Given the description of an element on the screen output the (x, y) to click on. 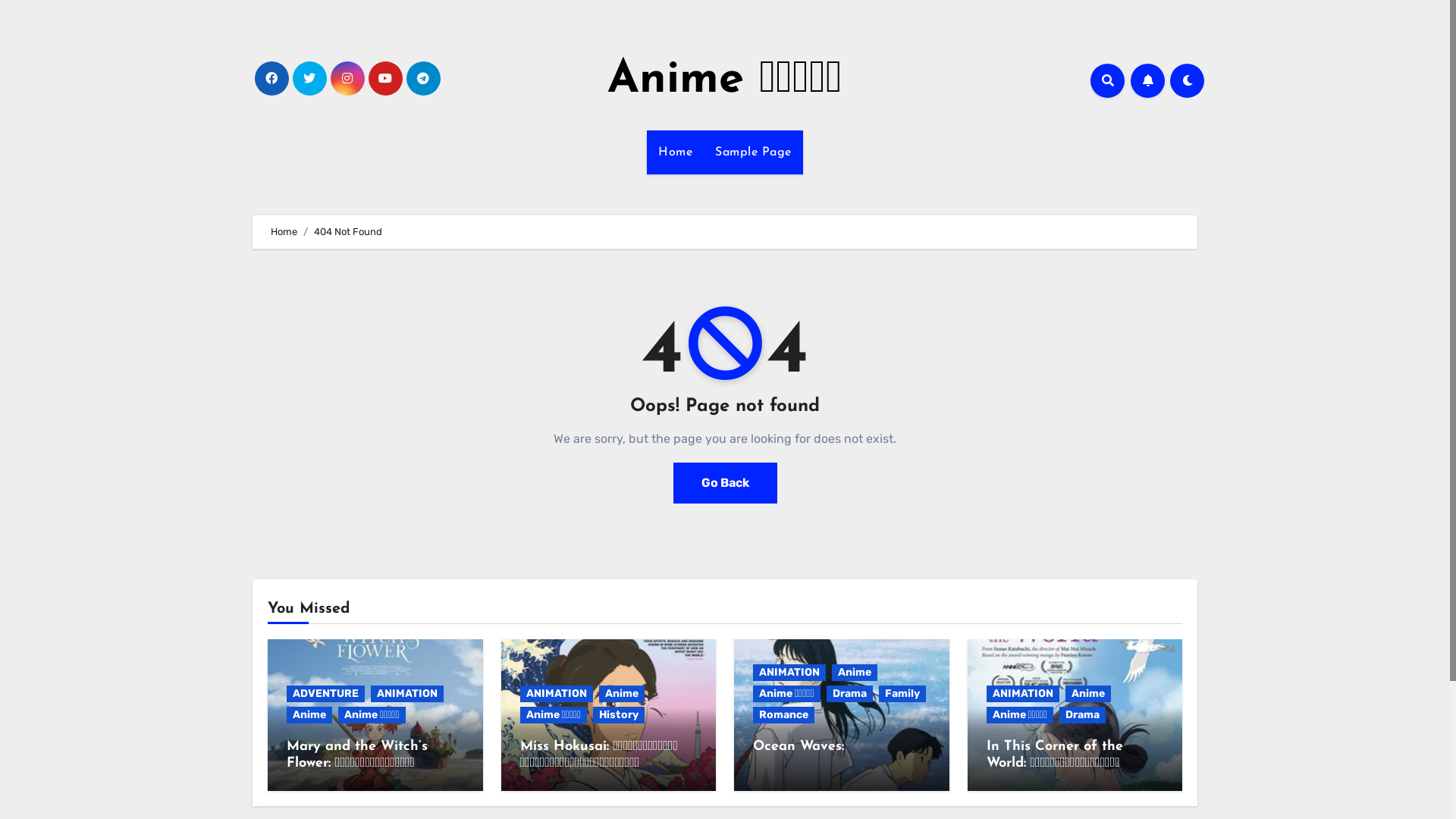
History Element type: text (618, 714)
ANIMATION Element type: text (556, 693)
ANIMATION Element type: text (406, 693)
Anime Element type: text (309, 714)
Romance Element type: text (783, 714)
Anime Element type: text (1087, 693)
ADVENTURE Element type: text (325, 693)
Family Element type: text (901, 693)
Go Back Element type: text (725, 482)
Anime Element type: text (854, 672)
Drama Element type: text (1082, 714)
Home Element type: text (674, 152)
Home Element type: text (283, 231)
Sample Page Element type: text (753, 152)
ANIMATION Element type: text (1021, 693)
ANIMATION Element type: text (789, 672)
Anime Element type: text (621, 693)
Drama Element type: text (849, 693)
